Given the description of an element on the screen output the (x, y) to click on. 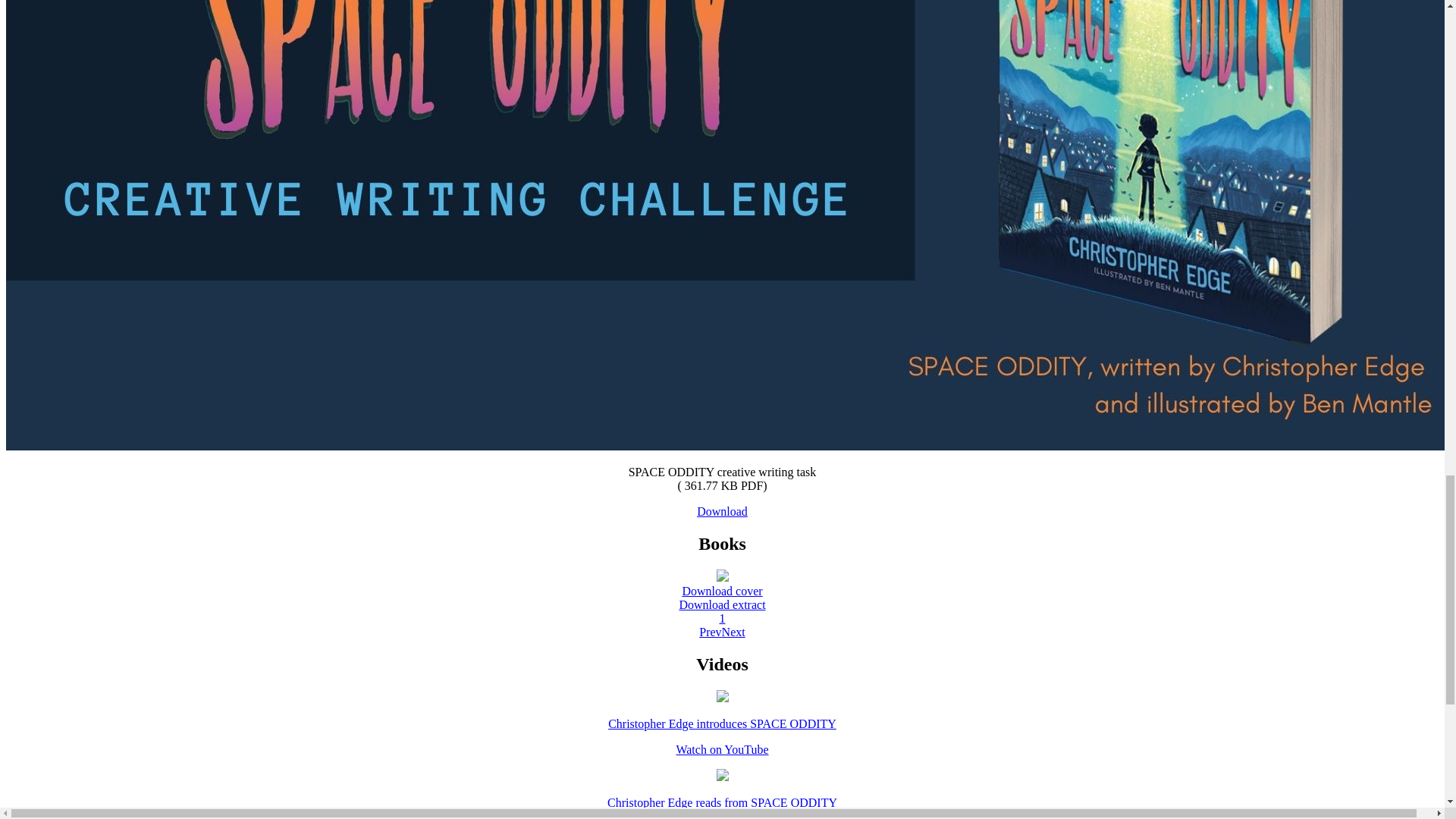
Christopher Edge introduces SPACE ODDITY (721, 723)
Prev (709, 631)
Download (722, 511)
Download cover (721, 590)
Download extract (721, 604)
Christopher Edge reads from SPACE ODDITY (722, 802)
Watch on YouTube (721, 748)
Next (733, 631)
